Given the description of an element on the screen output the (x, y) to click on. 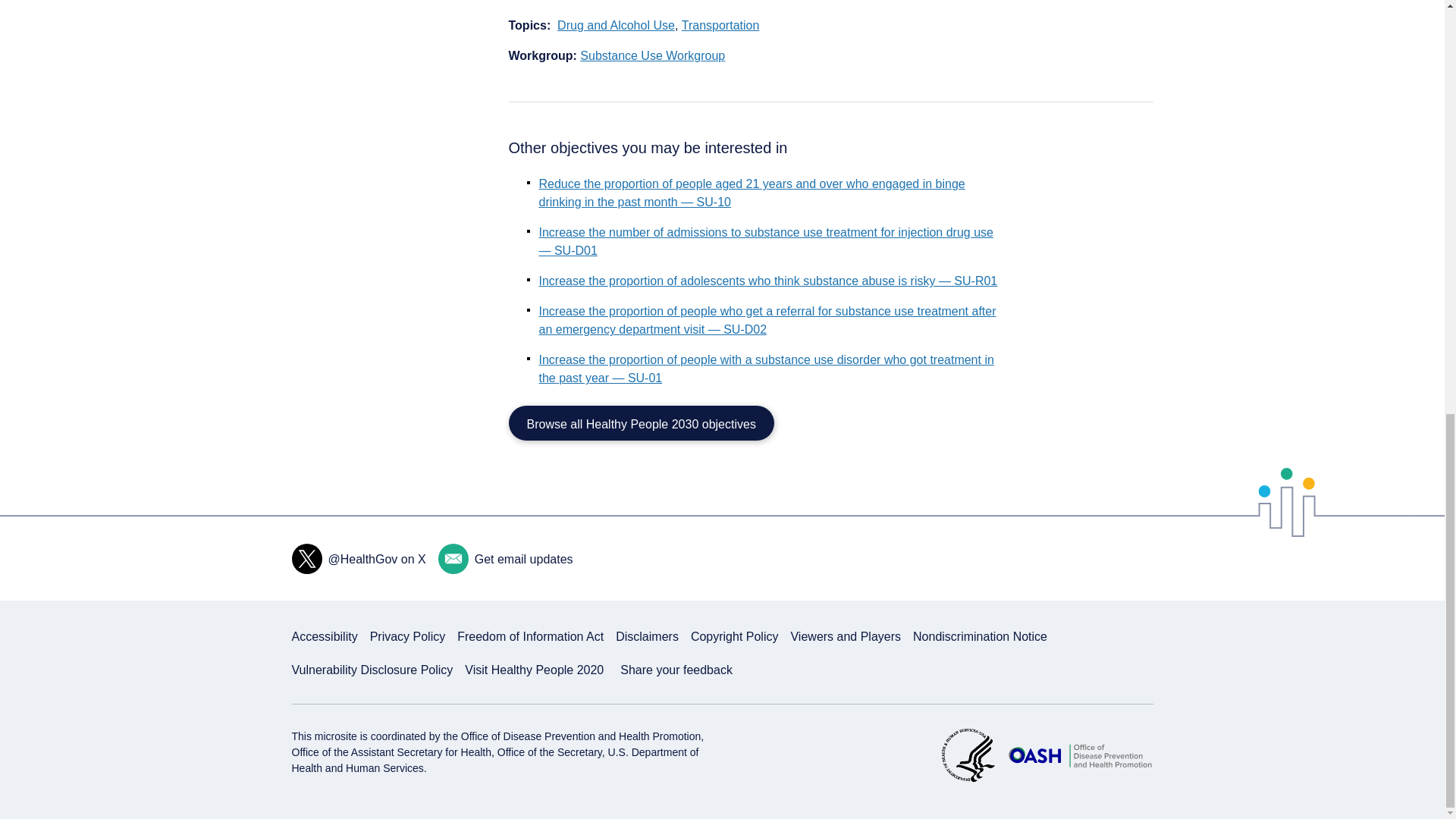
Link to Transportation page (720, 25)
Link to Drug and Alcohol Use page (616, 25)
